Given the description of an element on the screen output the (x, y) to click on. 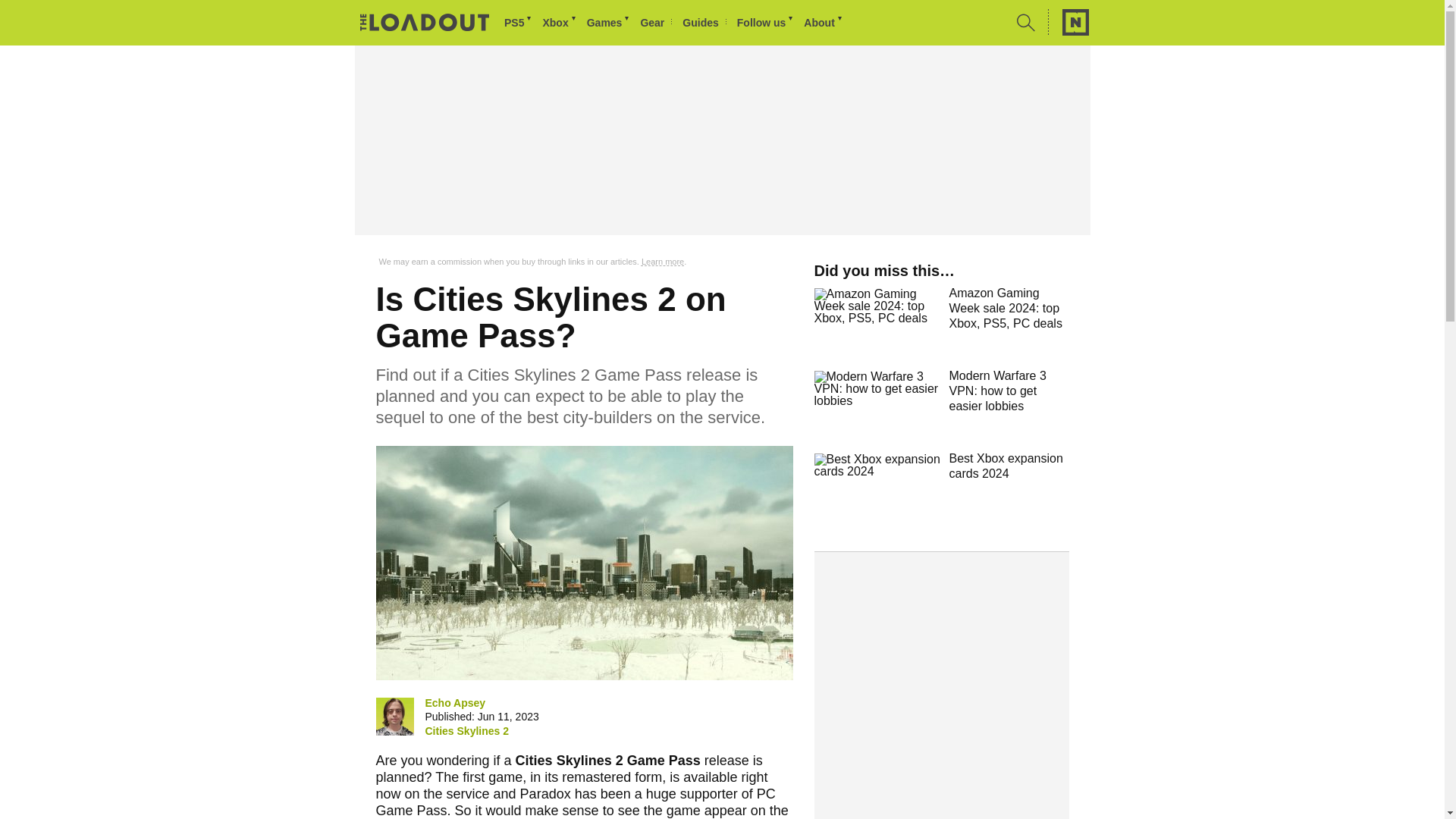
Echo Apsey (454, 702)
Is Cities Skylines 2 on Game Pass? (584, 562)
Follow us (765, 22)
Learn more (663, 261)
Network N Media (1068, 22)
Follow The Loadout (765, 22)
Game Guides (704, 22)
The Loadout (424, 24)
Games (608, 22)
Guides (704, 22)
